Given the description of an element on the screen output the (x, y) to click on. 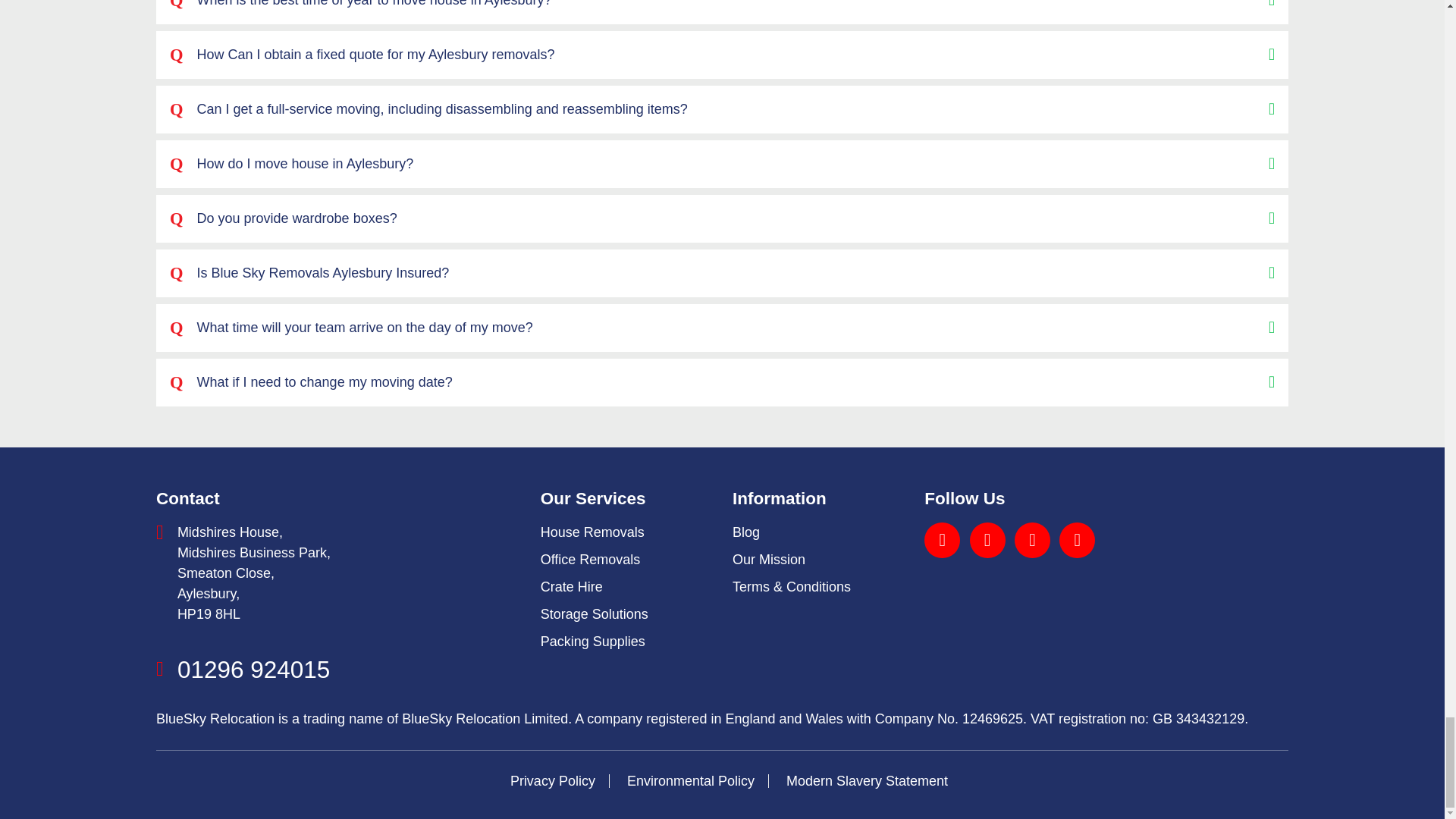
Crate Hire (571, 586)
House Removals (592, 531)
Our Mission (768, 559)
Office Removals (590, 559)
01296 924015 (253, 669)
Storage Solutions (593, 613)
Privacy Policy (553, 780)
Packing Supplies (592, 641)
Blog (746, 531)
